Given the description of an element on the screen output the (x, y) to click on. 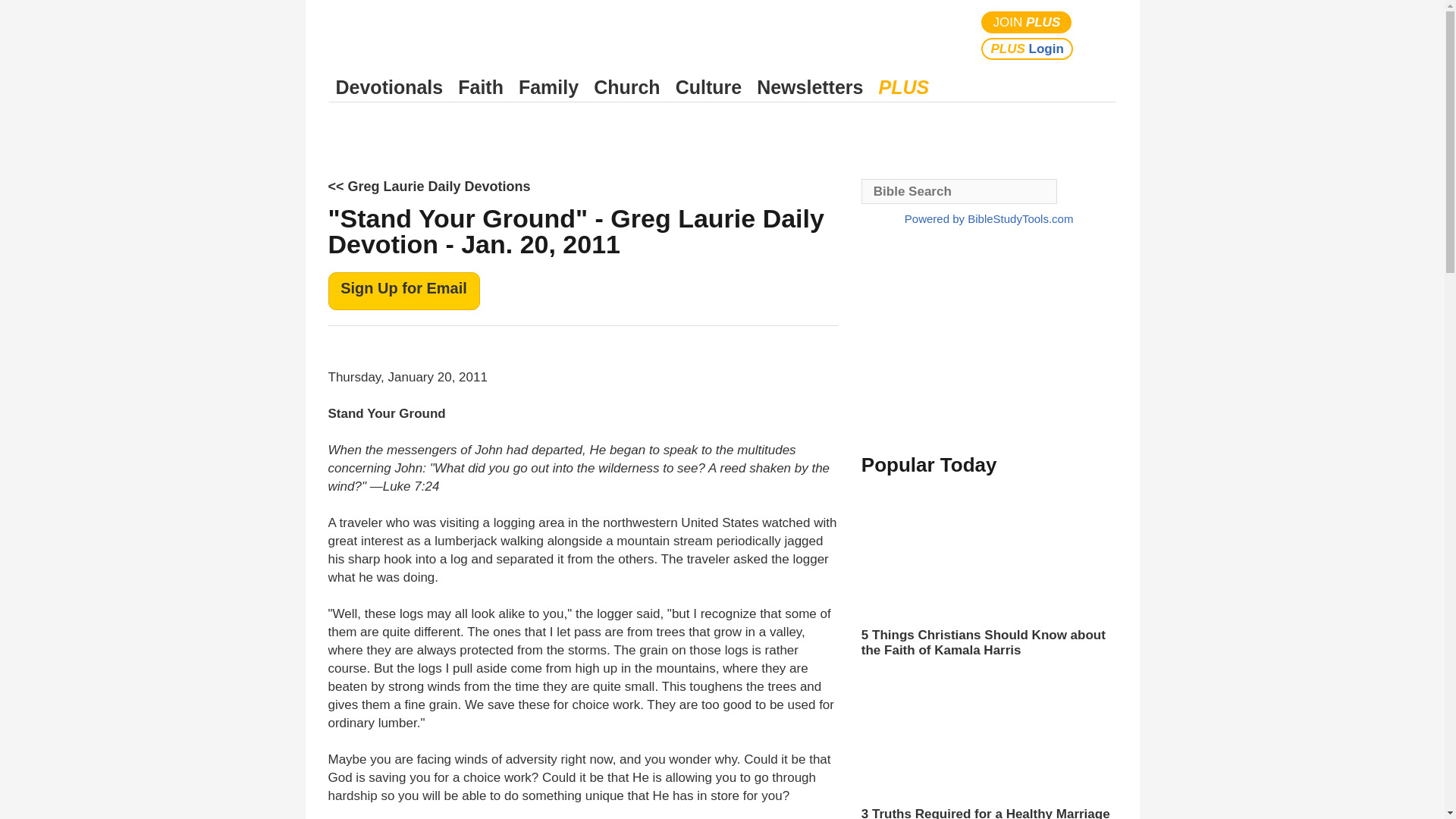
JOIN PLUS (1026, 22)
Join Plus (1026, 22)
Search (1101, 34)
Faith (481, 87)
Devotionals (389, 87)
Family (548, 87)
Plus Login (1026, 48)
PLUS Login (1026, 48)
